Given the description of an element on the screen output the (x, y) to click on. 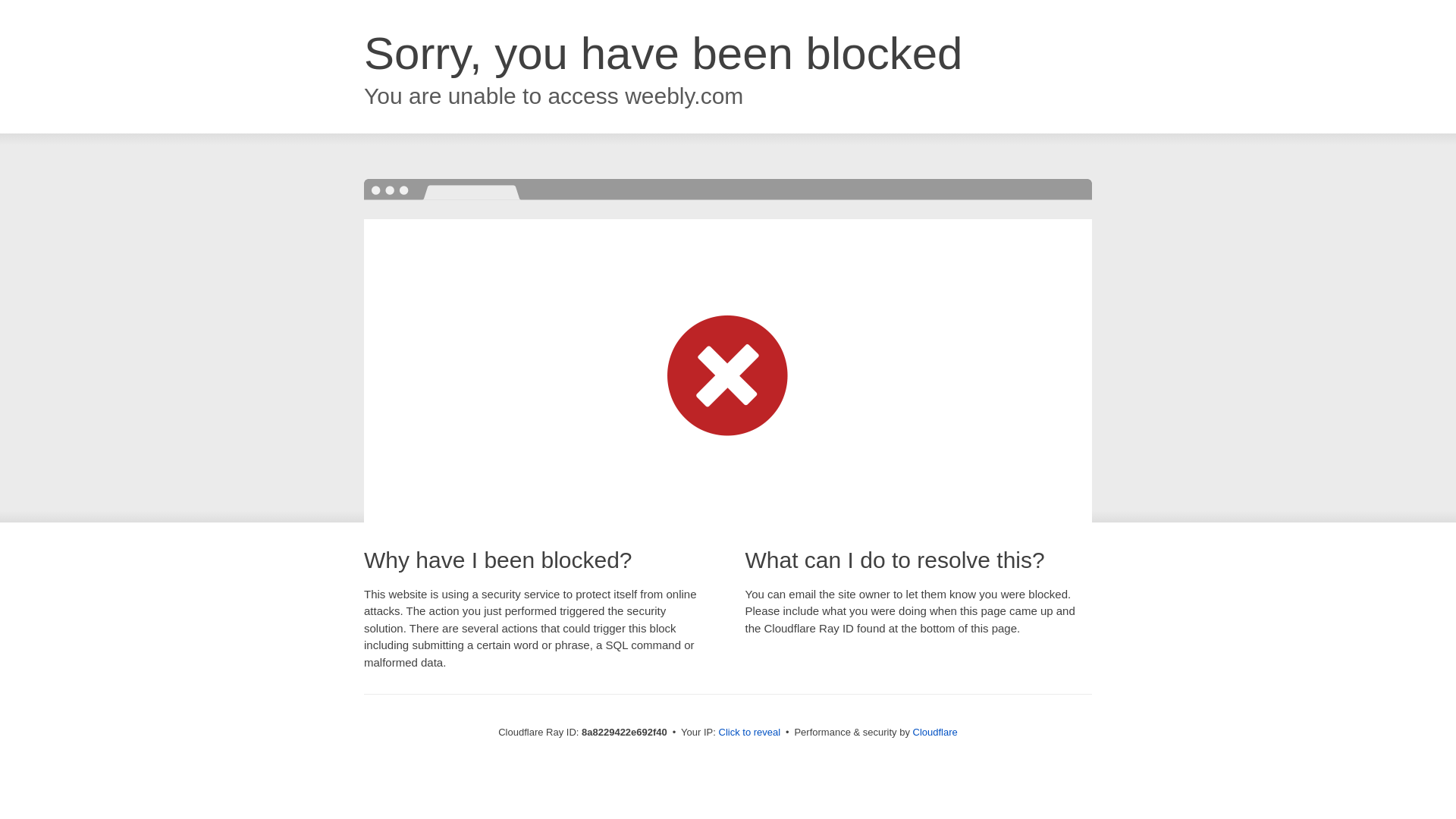
Click to reveal (749, 732)
Cloudflare (935, 731)
